Given the description of an element on the screen output the (x, y) to click on. 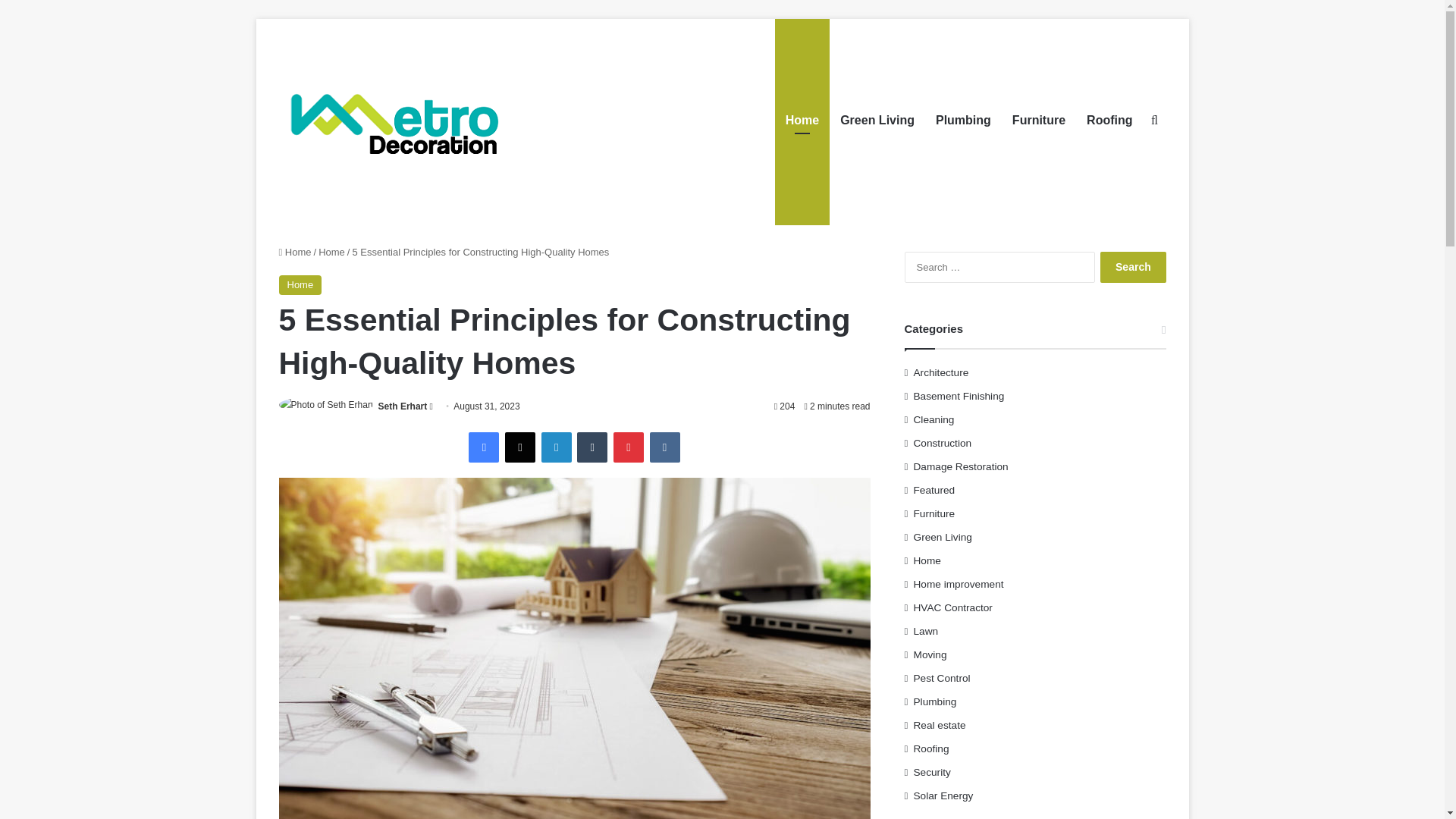
Search (1133, 266)
VKontakte (664, 447)
Seth Erhart (403, 406)
Home (295, 251)
VKontakte (664, 447)
X (520, 447)
Pinterest (627, 447)
LinkedIn (556, 447)
metrodecoration.com (392, 123)
Pinterest (627, 447)
